Given the description of an element on the screen output the (x, y) to click on. 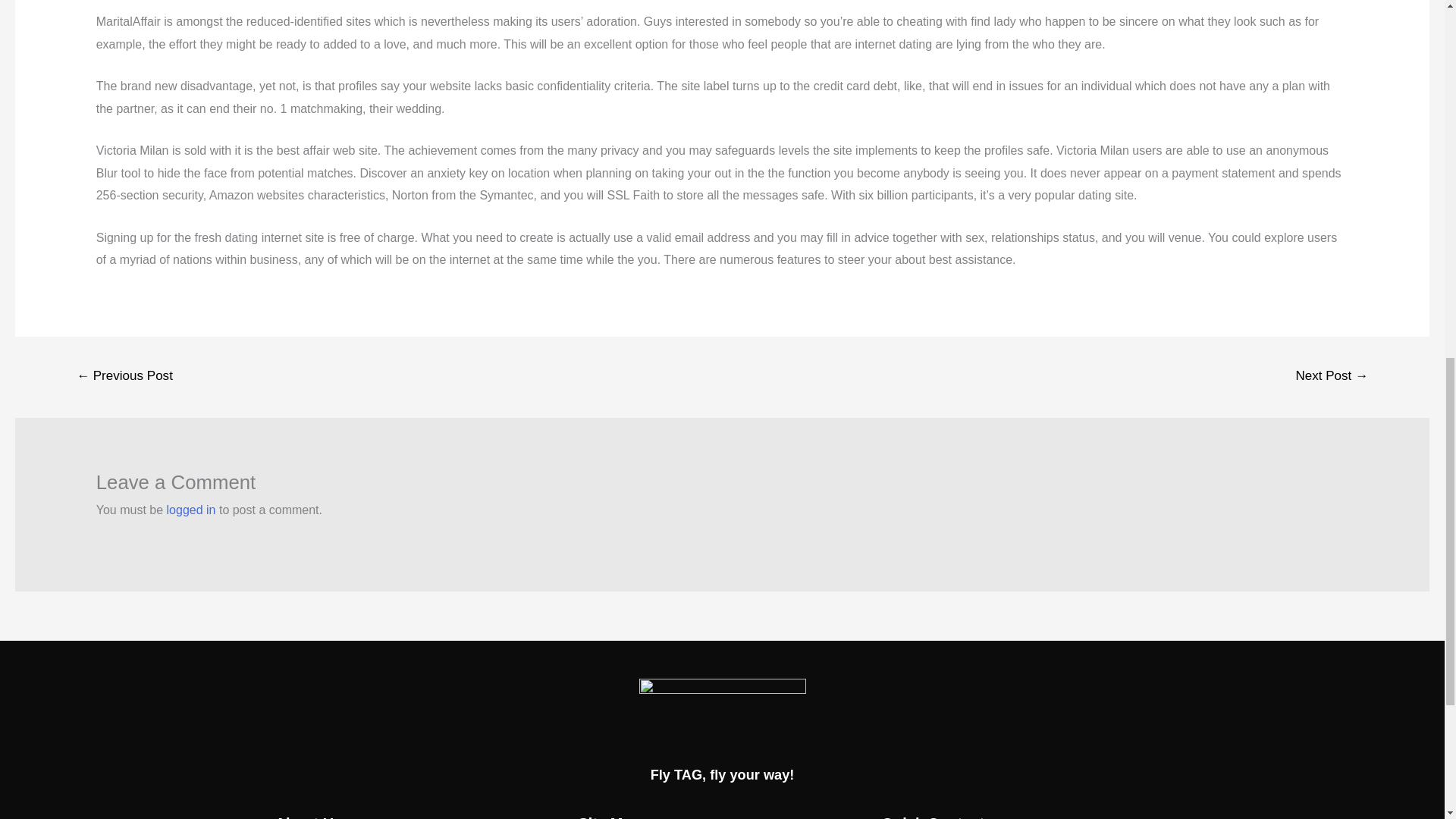
logged in (191, 509)
